Given the description of an element on the screen output the (x, y) to click on. 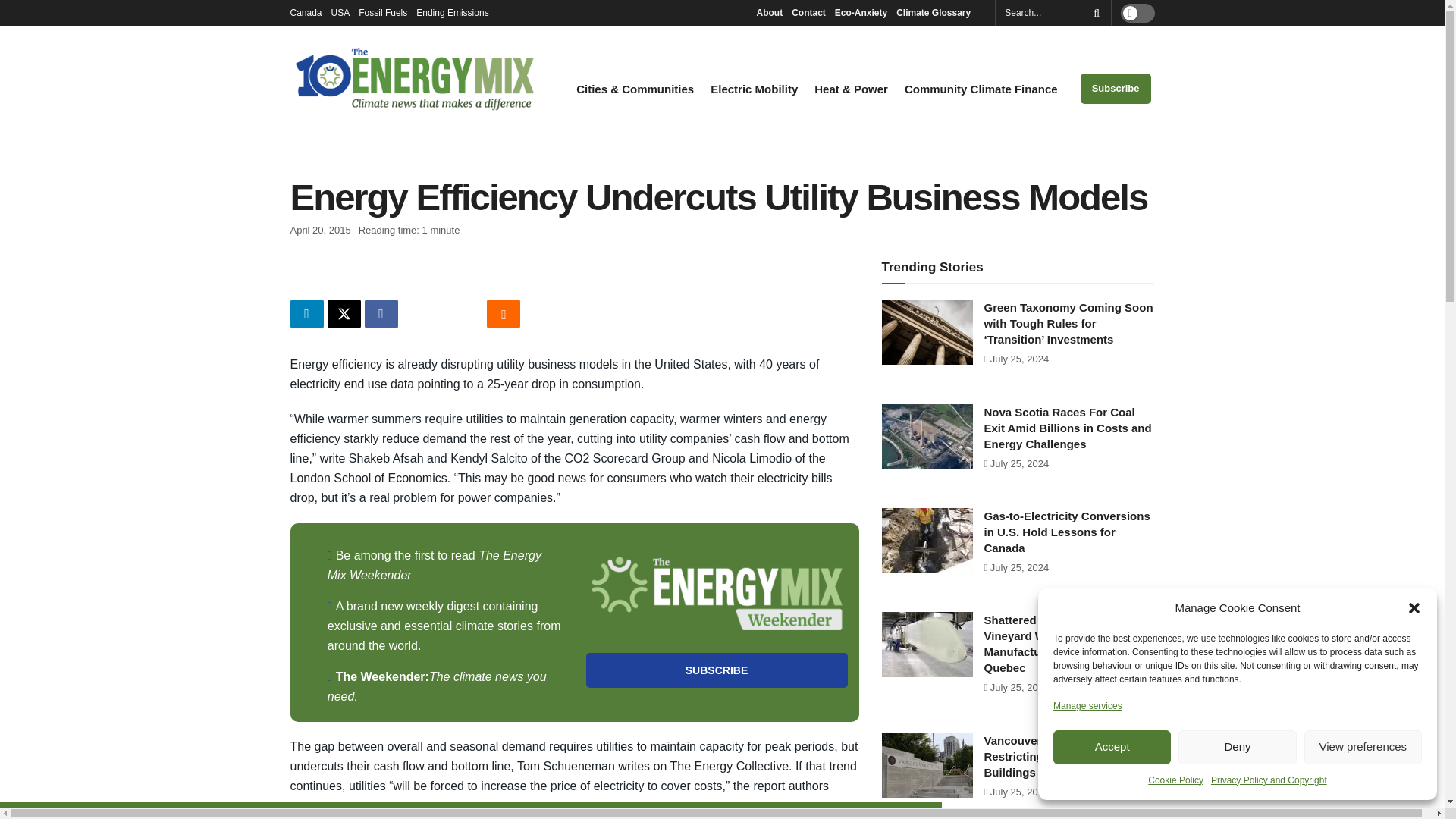
Community Climate Finance (981, 89)
Fossil Fuels (382, 12)
Accept (1111, 747)
View preferences (1363, 747)
Privacy Policy and Copyright (1268, 780)
About (769, 12)
Canada (305, 12)
Subscribe (716, 669)
TEM-WeekenderLight (716, 592)
Ending Emissions (456, 12)
Contact (808, 12)
Subscribe (1115, 88)
Eco-Anxiety (860, 12)
Cookie Policy (1176, 780)
Electric Mobility (753, 89)
